Given the description of an element on the screen output the (x, y) to click on. 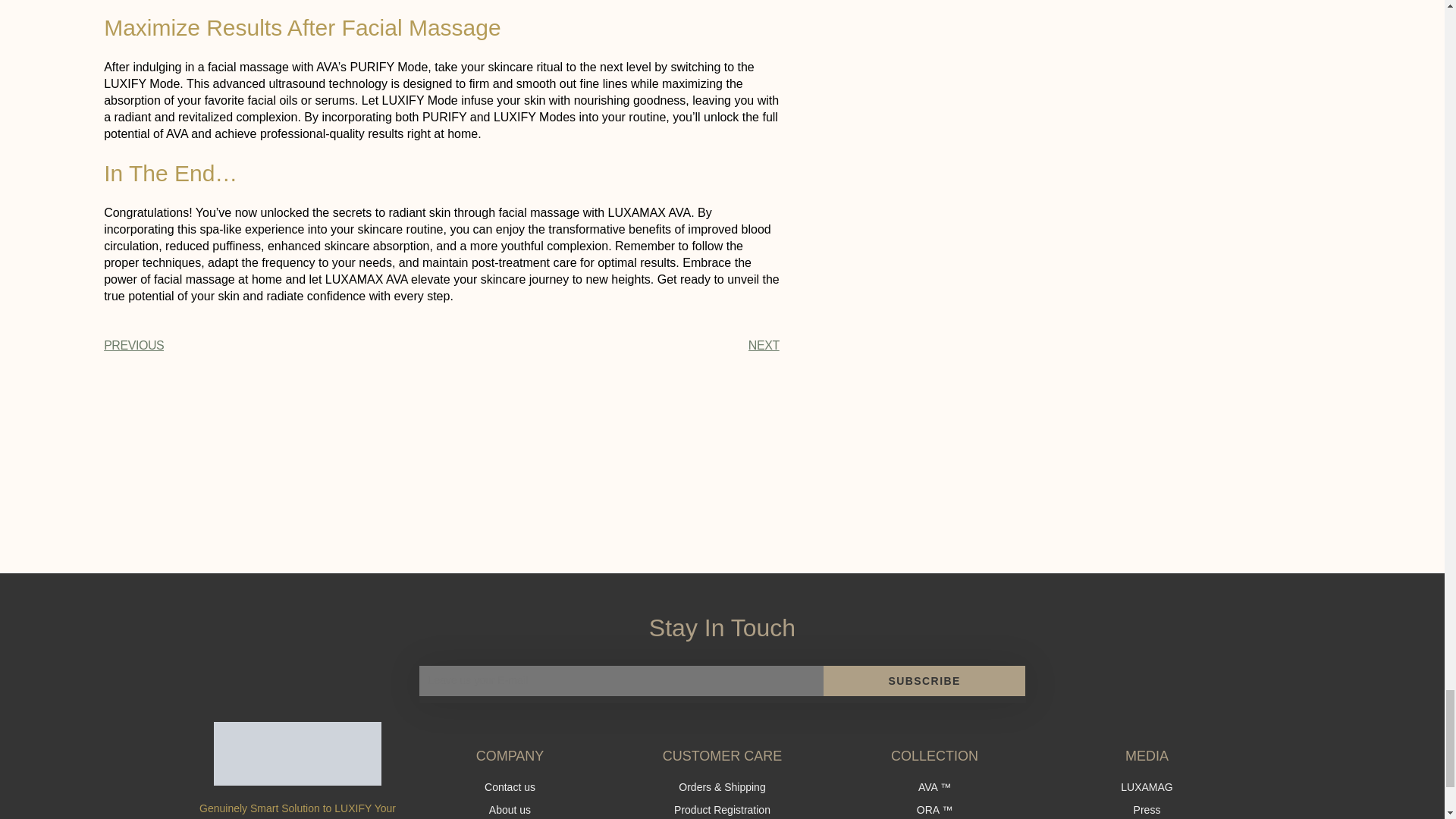
Contact us (509, 787)
PREVIOUS (272, 345)
About us (509, 809)
SUBSCRIBE (925, 680)
NEXT (609, 345)
